Given the description of an element on the screen output the (x, y) to click on. 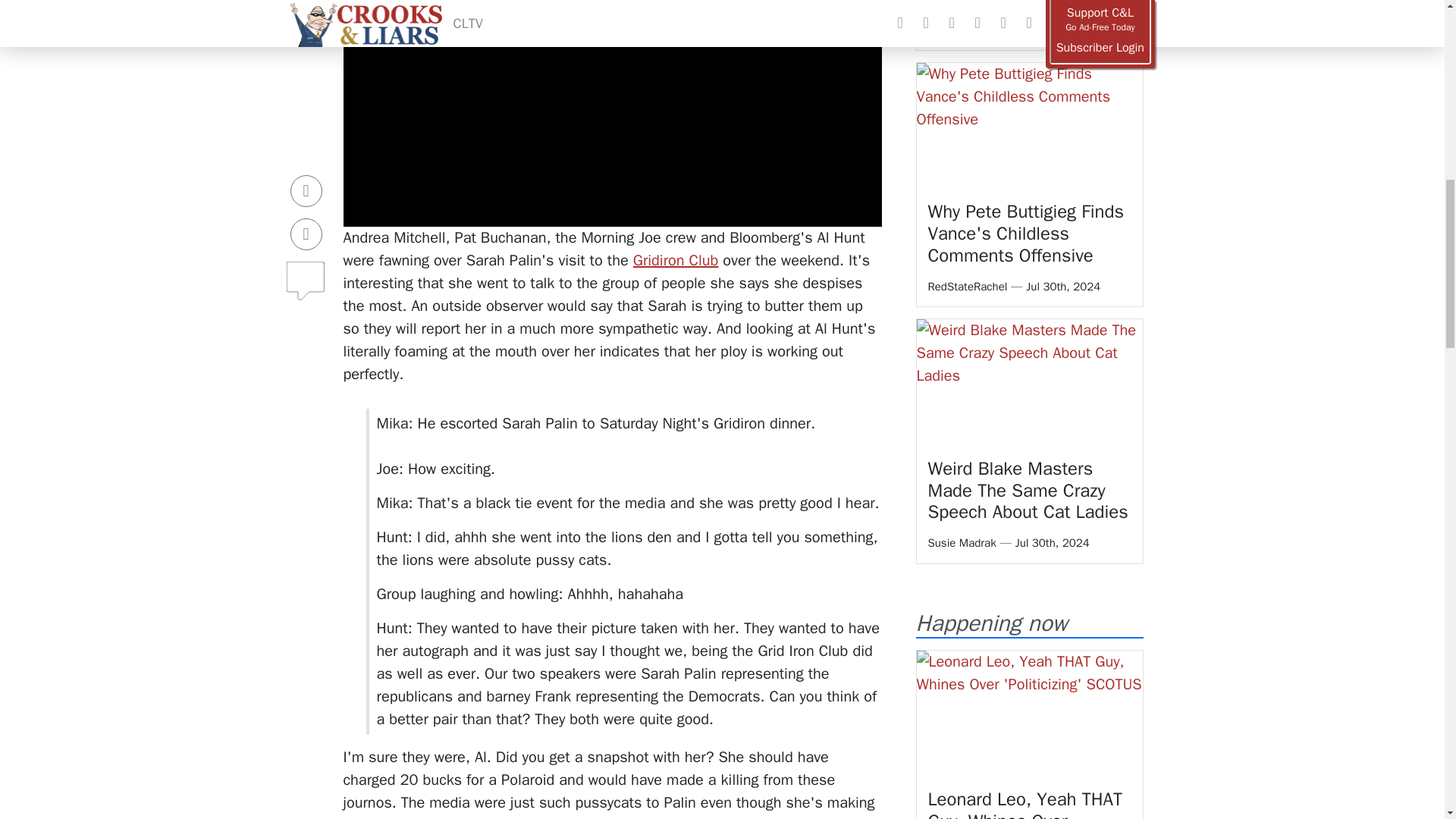
FBI Director Slaps Down Wingnut MAGA Rep. Spartz (1023, 5)
Gridiron Club (676, 260)
John Amato (956, 29)
